Given the description of an element on the screen output the (x, y) to click on. 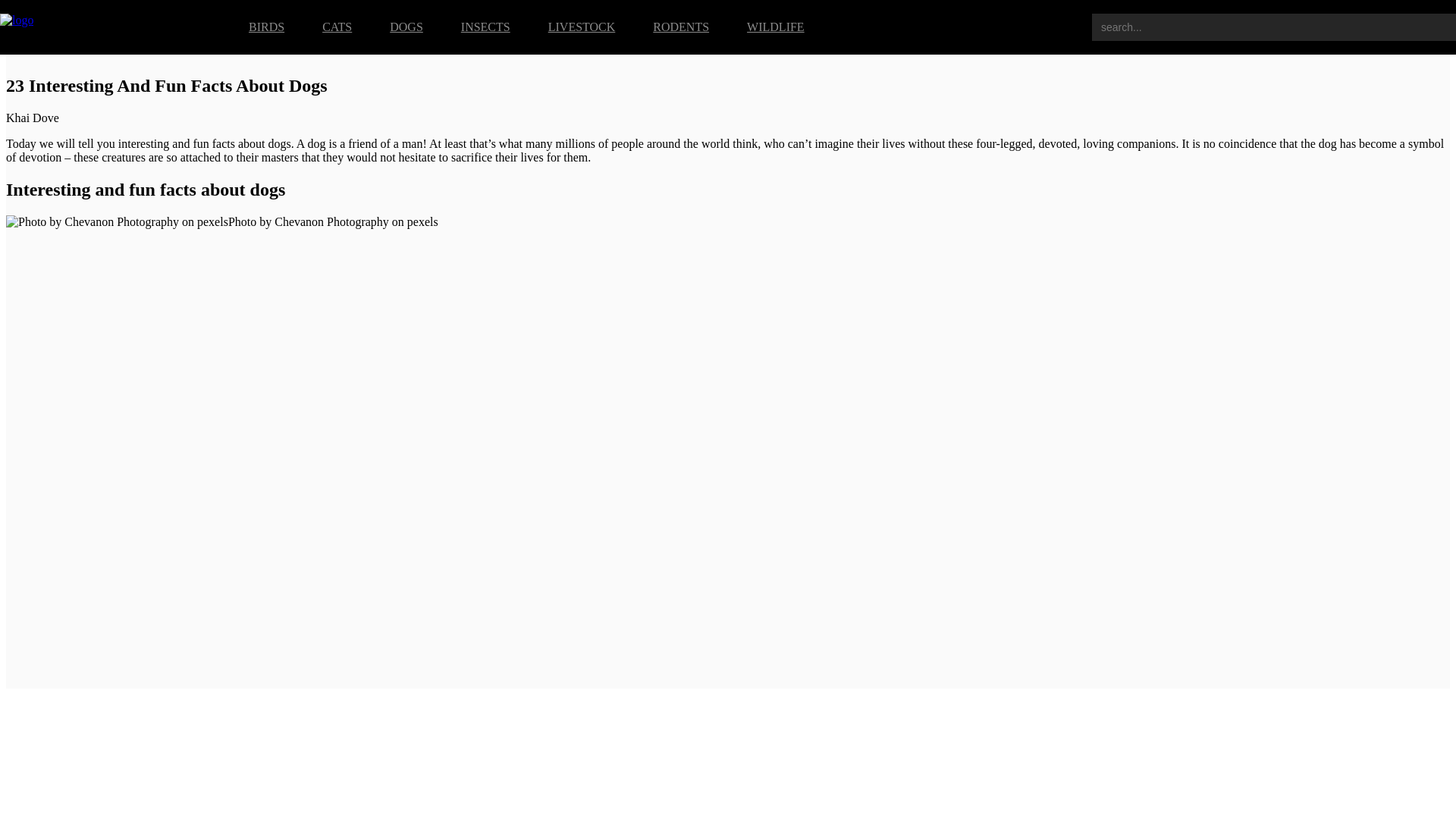
RODENTS (680, 26)
LIVESTOCK (581, 26)
WILDLIFE (775, 26)
BIRDS (265, 26)
INSECTS (486, 26)
CATS (336, 26)
DOGS (406, 26)
